Given the description of an element on the screen output the (x, y) to click on. 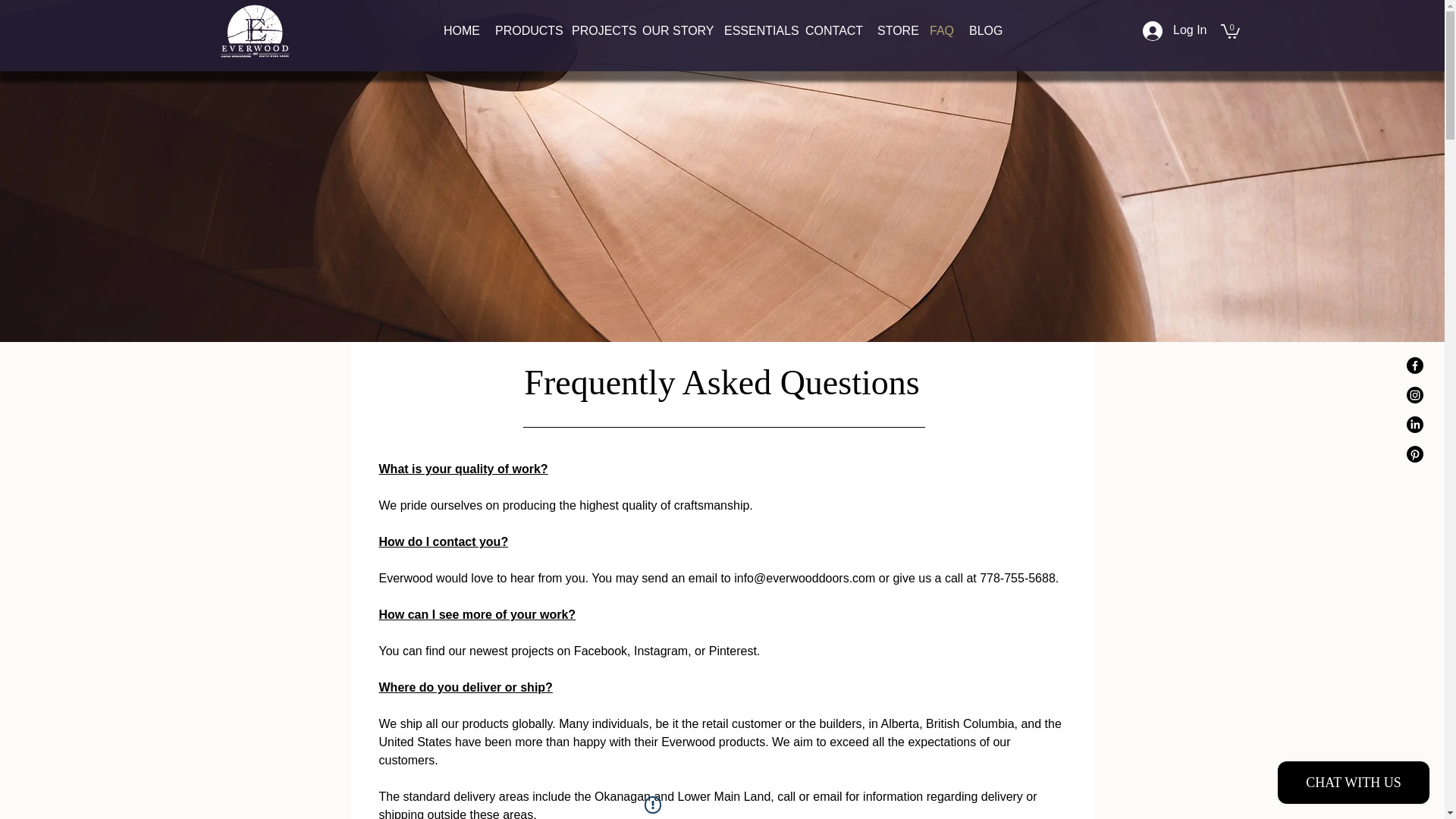
PRODUCTS (525, 30)
Log In (1174, 30)
0 (1230, 30)
OUR STORY (675, 30)
BLOG (984, 30)
PROJECTS (599, 30)
ESSENTIALS (756, 30)
0 (1230, 30)
STORE (895, 30)
HOME (461, 30)
CONTACT (833, 30)
FAQ (940, 30)
